Given the description of an element on the screen output the (x, y) to click on. 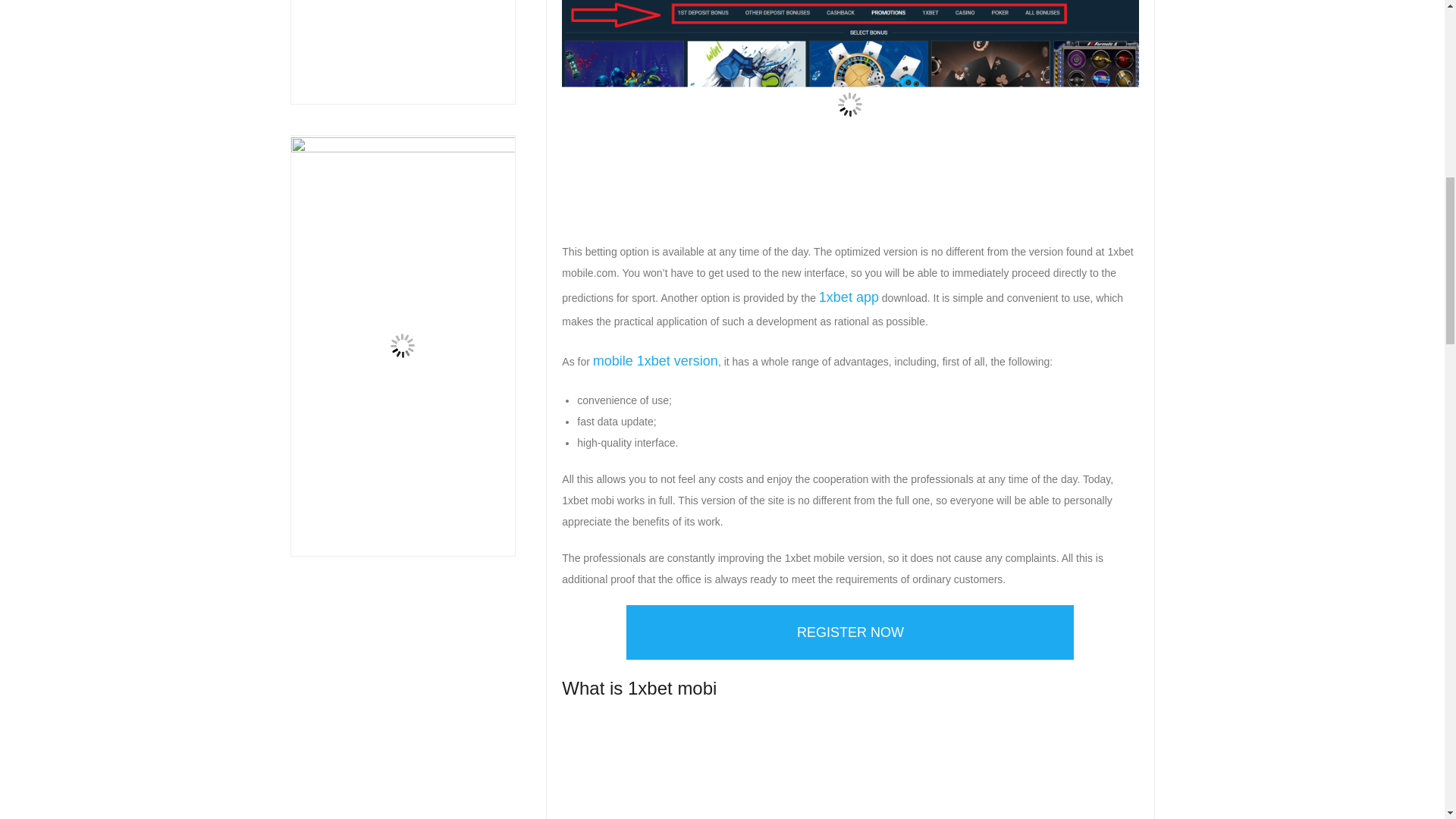
1xbet mobile version (850, 113)
What is mobile 1xbet (850, 768)
REGISTER NOW (850, 632)
1xbet app (848, 296)
mobile 1xbet version (654, 360)
